Given the description of an element on the screen output the (x, y) to click on. 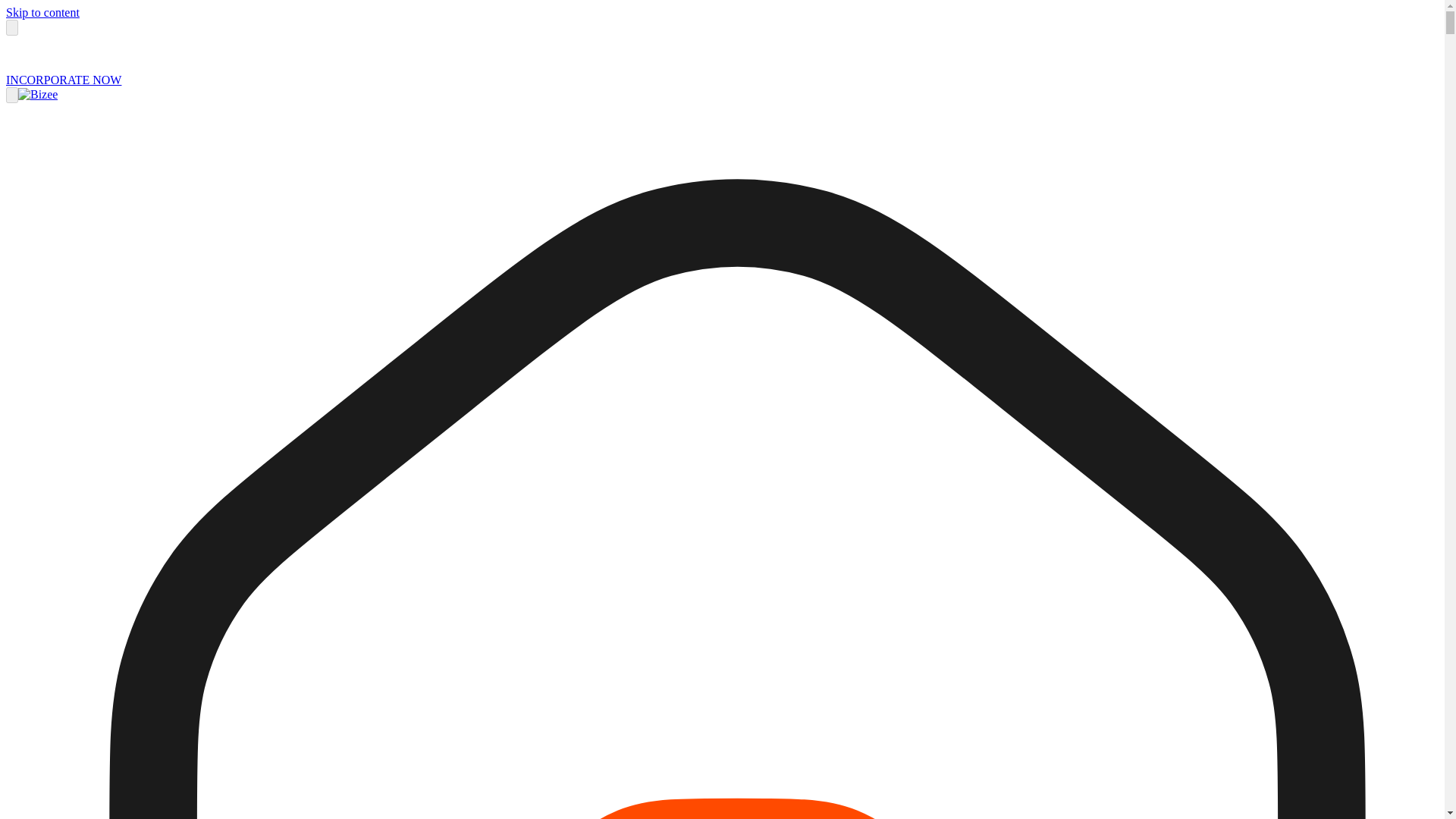
INCORPORATE NOW (62, 79)
